Given the description of an element on the screen output the (x, y) to click on. 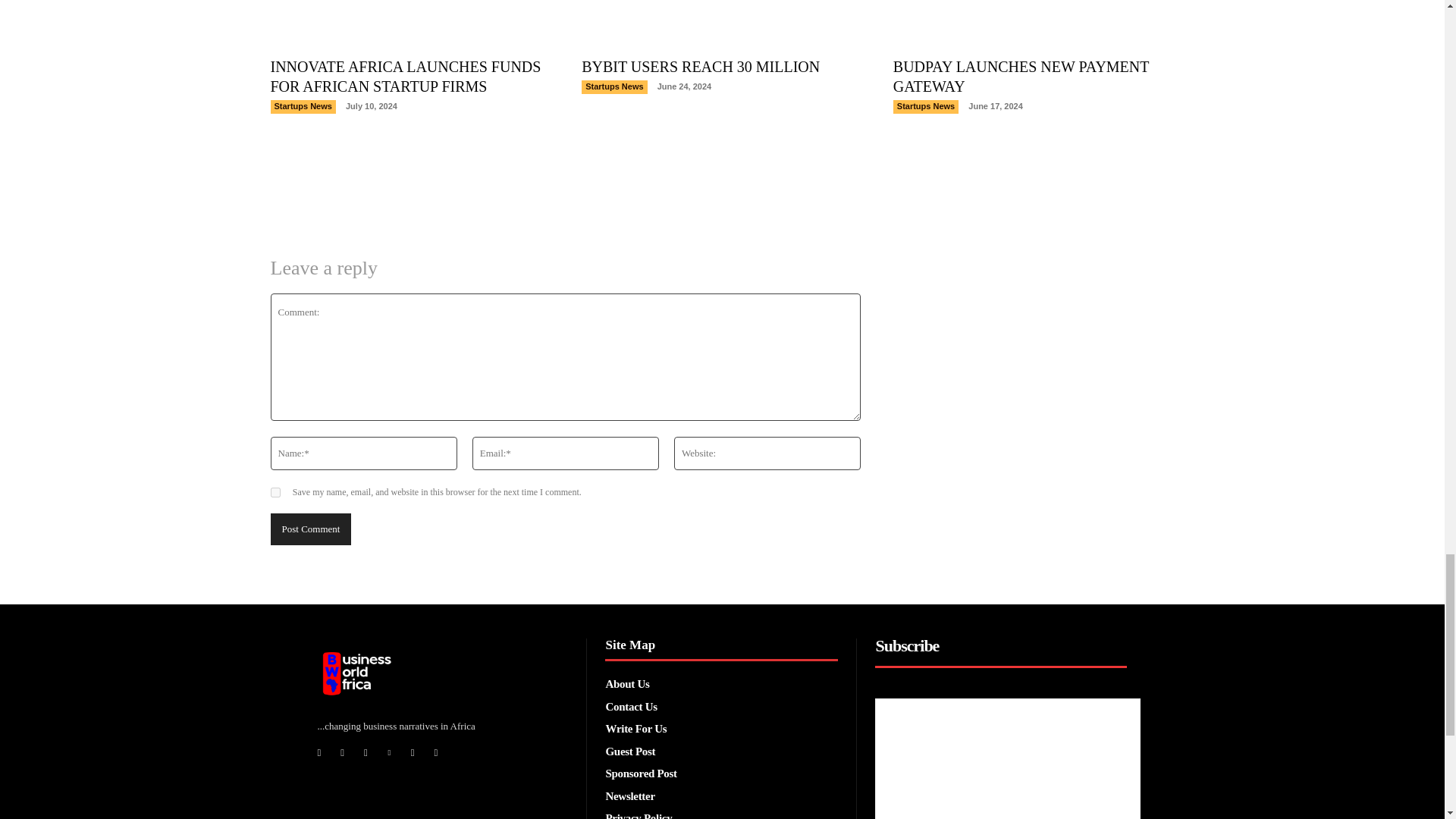
Post Comment (309, 529)
yes (274, 492)
